Given the description of an element on the screen output the (x, y) to click on. 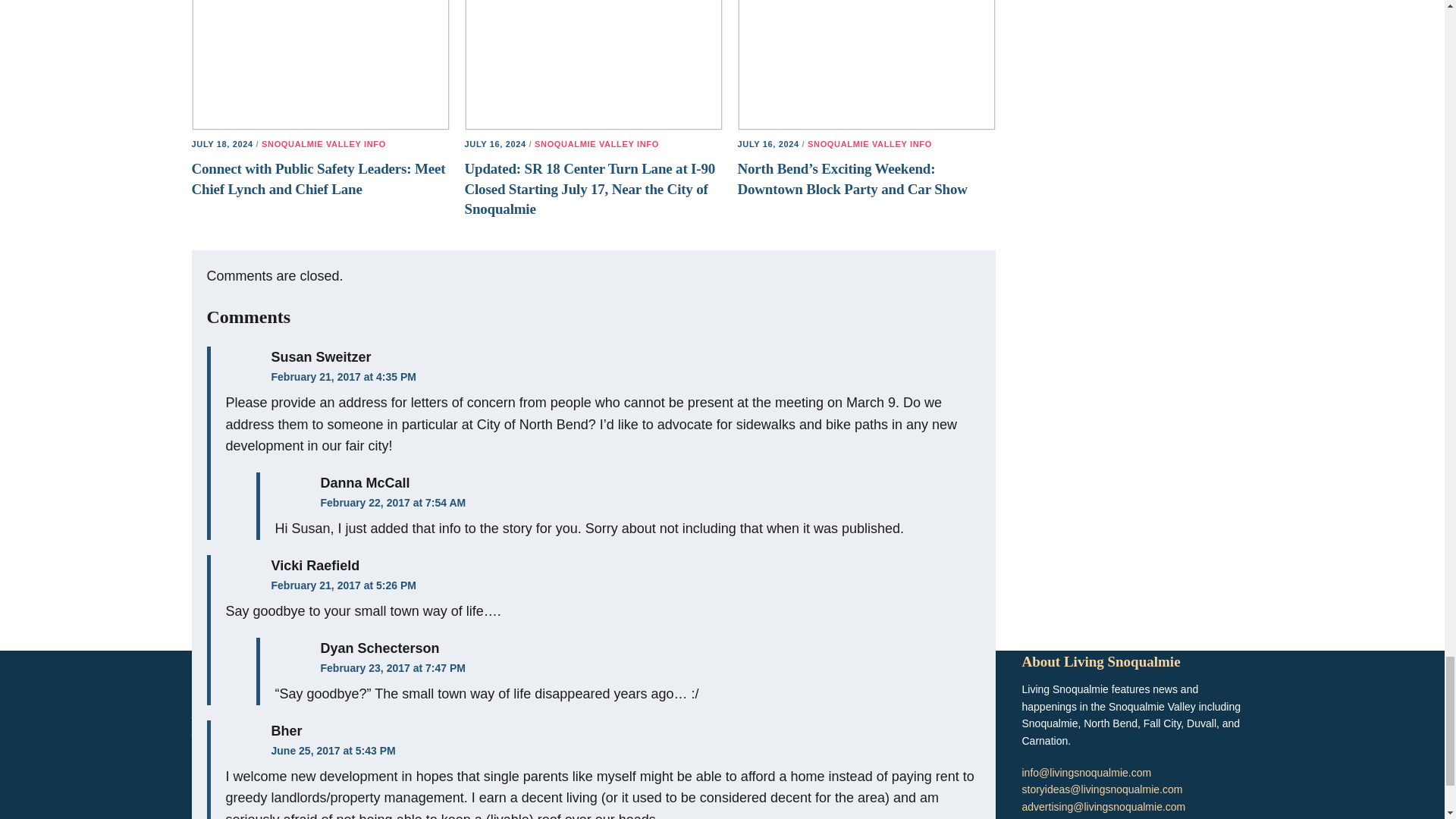
SNOQUALMIE VALLEY INFO (323, 143)
